Given the description of an element on the screen output the (x, y) to click on. 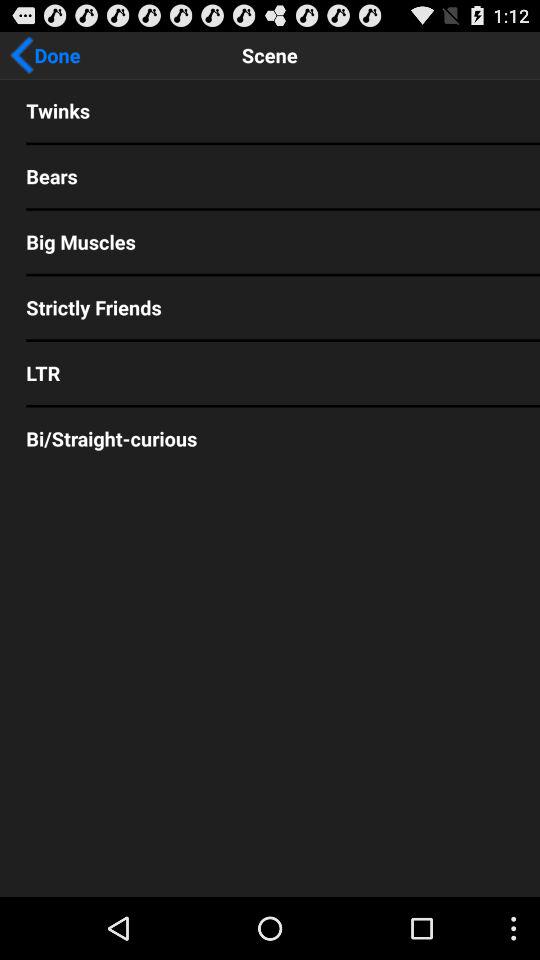
choose app to the left of the scene icon (45, 55)
